Given the description of an element on the screen output the (x, y) to click on. 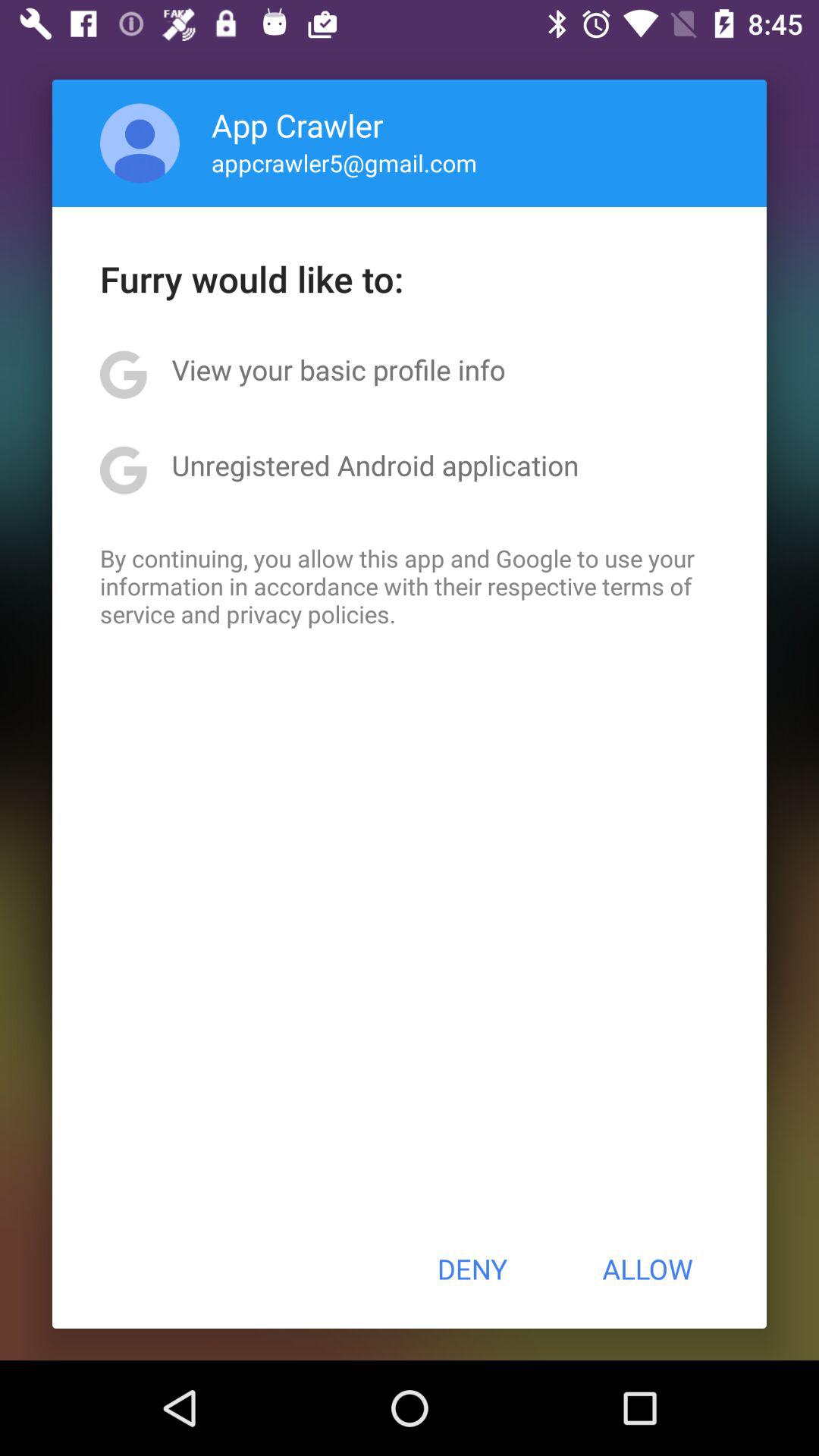
open the icon below app crawler (344, 162)
